Given the description of an element on the screen output the (x, y) to click on. 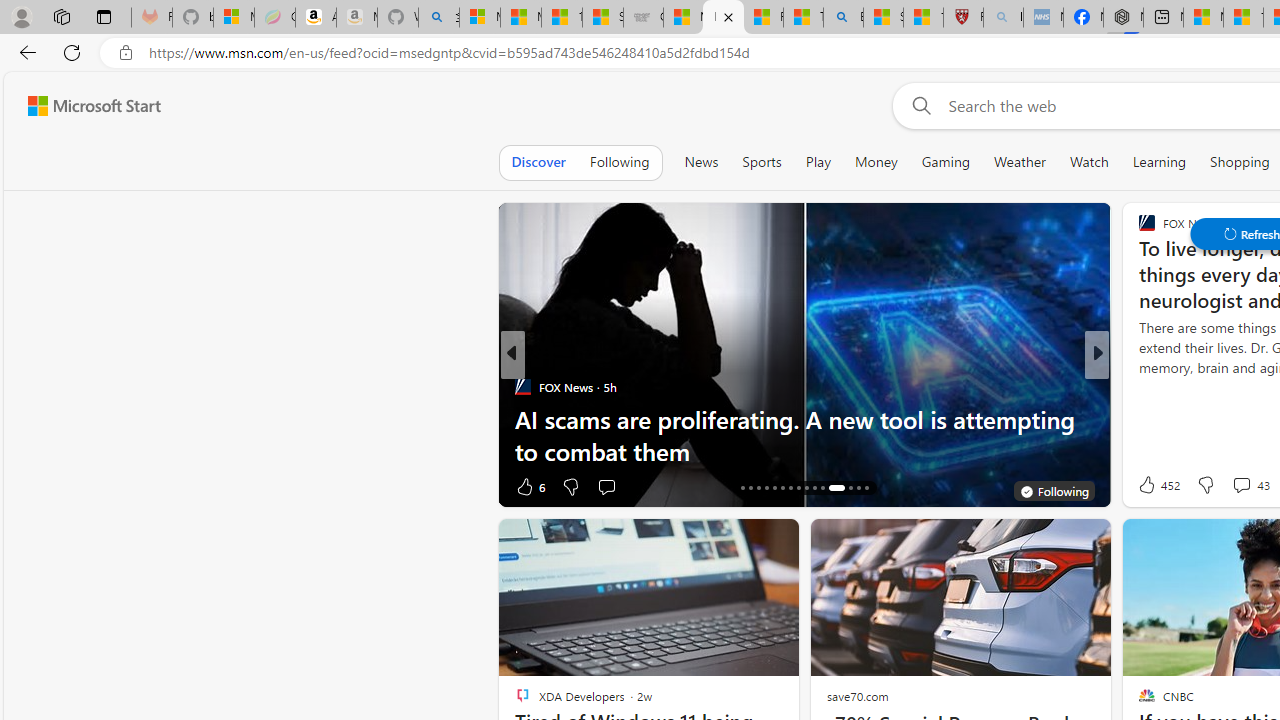
View comments 43 Comment (1241, 485)
HowToGeek (1138, 386)
View comments 89 Comment (11, 485)
AutomationID: tab-30 (865, 487)
AutomationID: tab-26 (821, 487)
View comments 197 Comment (1234, 485)
